Given the description of an element on the screen output the (x, y) to click on. 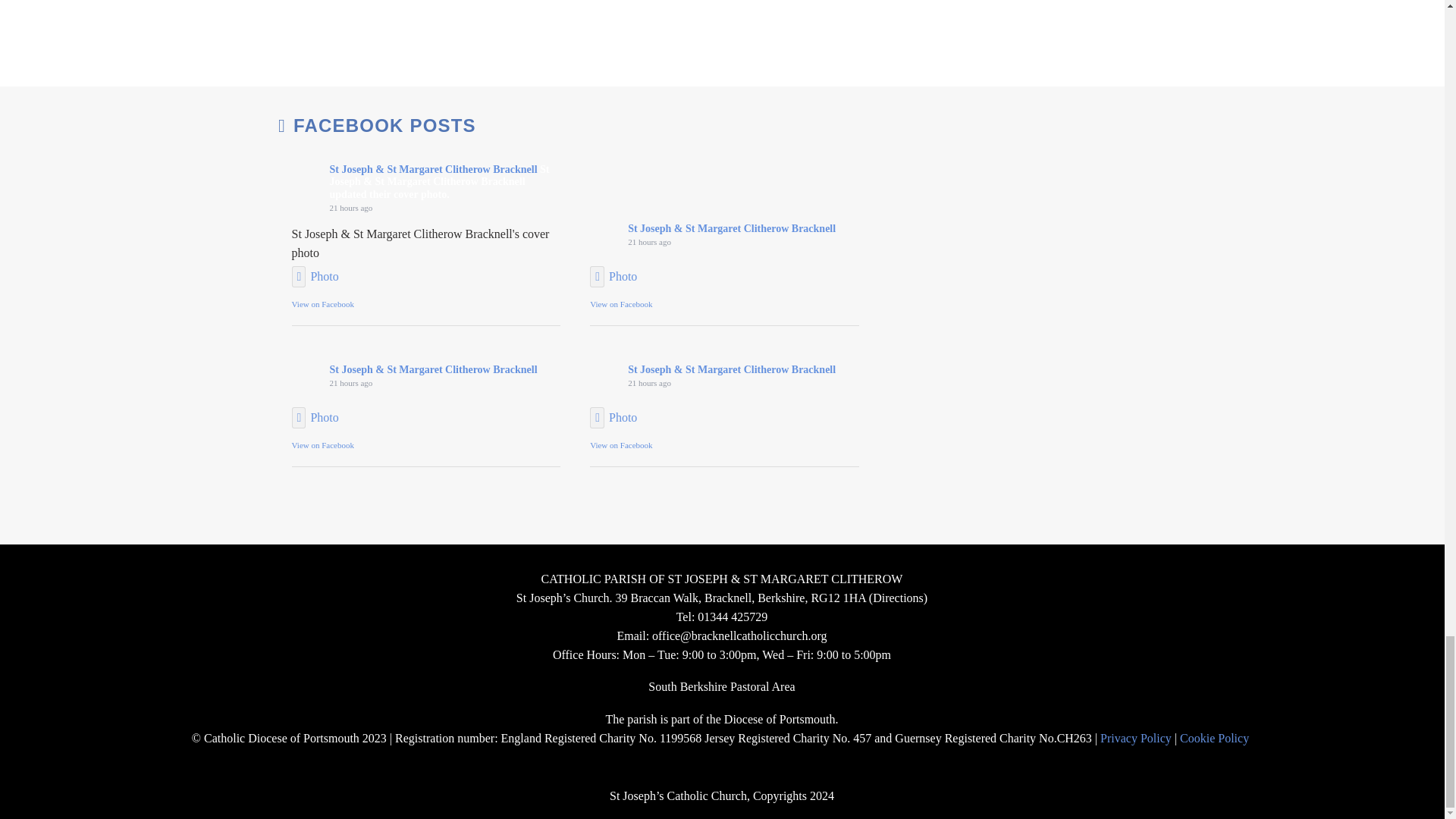
View on Facebook (620, 444)
View on Facebook (322, 444)
View on Facebook (620, 303)
View on Facebook (322, 303)
